Given the description of an element on the screen output the (x, y) to click on. 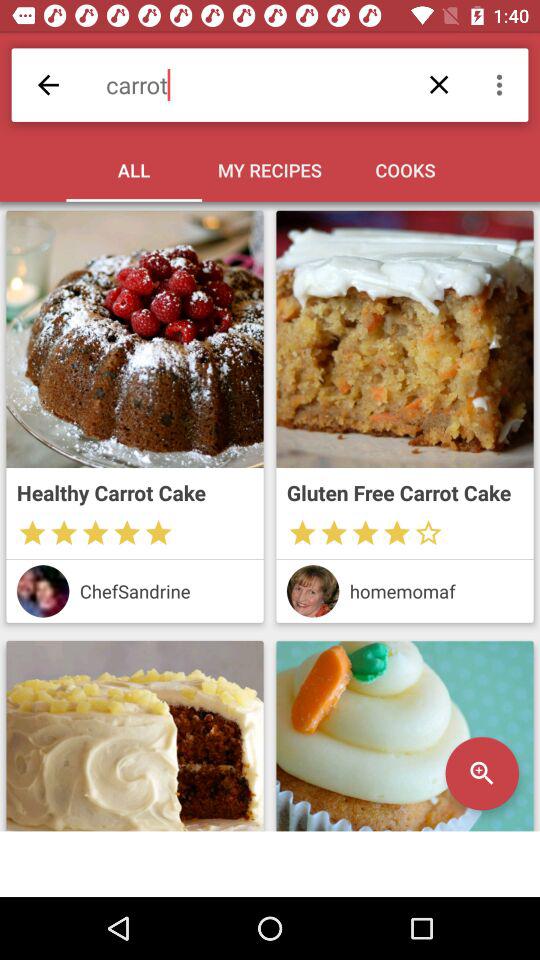
click to see profile (42, 591)
